Given the description of an element on the screen output the (x, y) to click on. 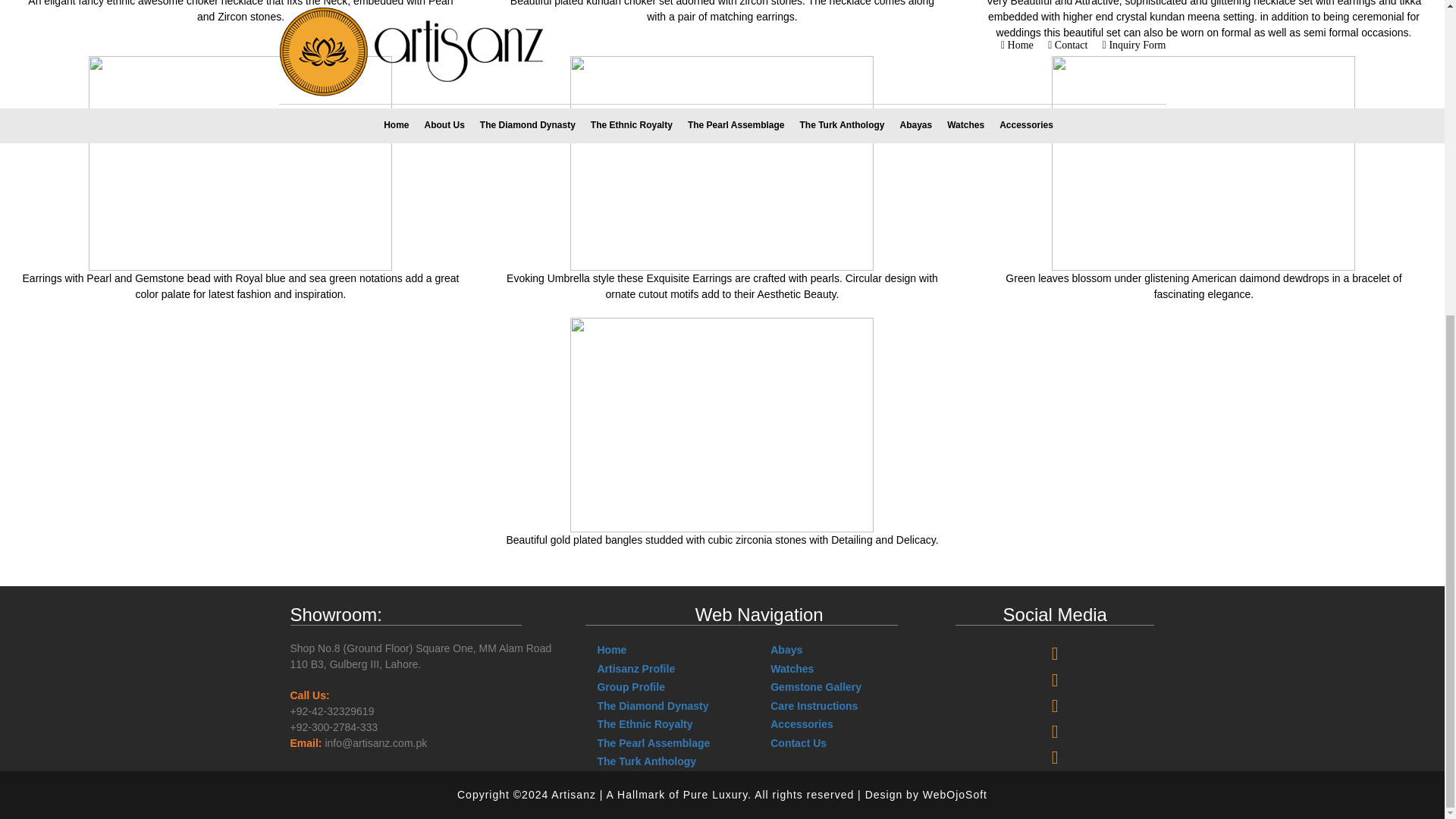
The Turk Anthology (645, 761)
Gemstone Gallery (815, 686)
The Diamond Dynasty (651, 705)
Care Instructions (813, 705)
The Ethnic Royalty (644, 724)
The Pearl Assemblage (653, 743)
Group Profile (629, 686)
Accessories (801, 724)
Watches (791, 668)
WebOjoSoft (955, 794)
Contact Us (798, 743)
Home (611, 649)
Abays (786, 649)
Artisanz Profile (635, 668)
